Given the description of an element on the screen output the (x, y) to click on. 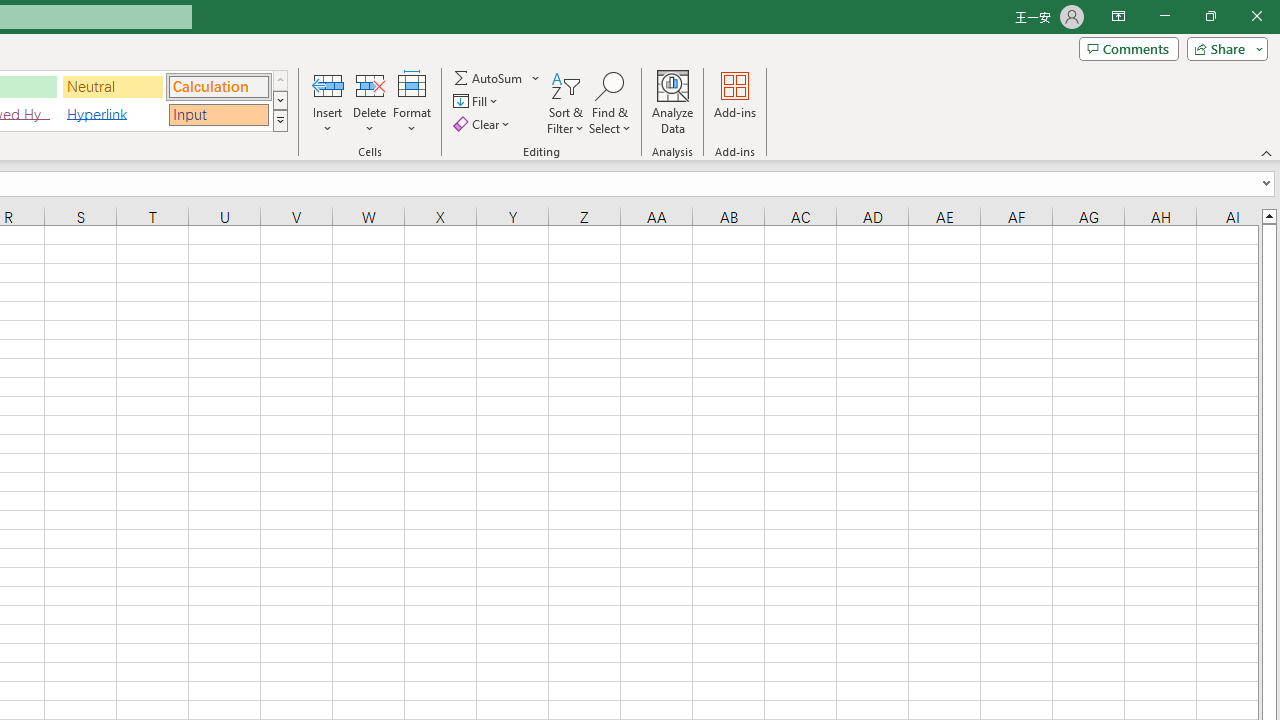
Find & Select (610, 102)
Insert Cells (328, 84)
Neutral (113, 86)
Delete (369, 102)
Sum (489, 78)
Delete Cells... (369, 84)
Hyperlink (113, 114)
Format (411, 102)
